Given the description of an element on the screen output the (x, y) to click on. 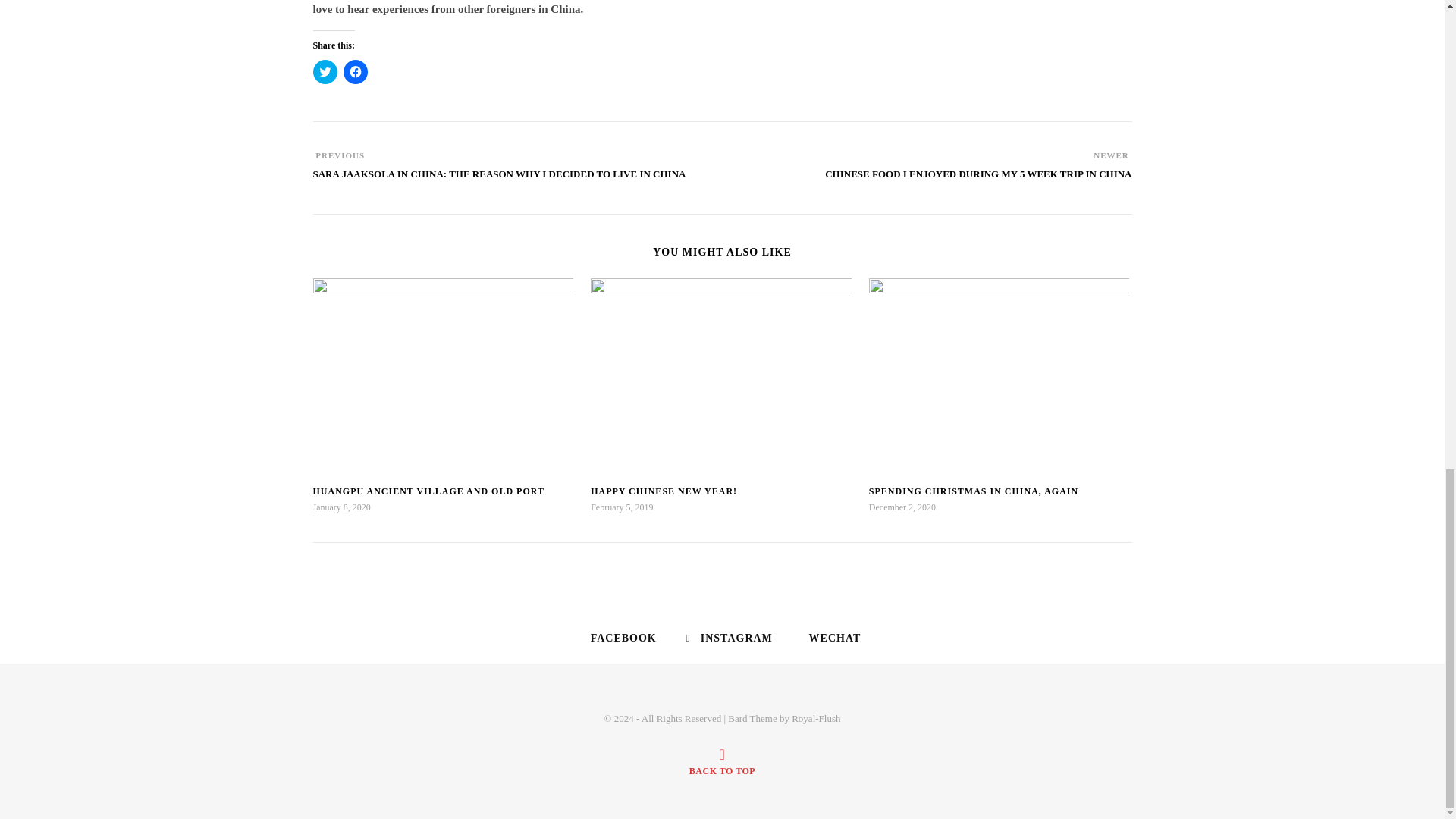
Click to share on Facebook (354, 71)
BACK TO TOP (722, 761)
Click to share on Twitter (324, 71)
Chinese food I enjoyed during my 5 week trip in China (978, 181)
